Given the description of an element on the screen output the (x, y) to click on. 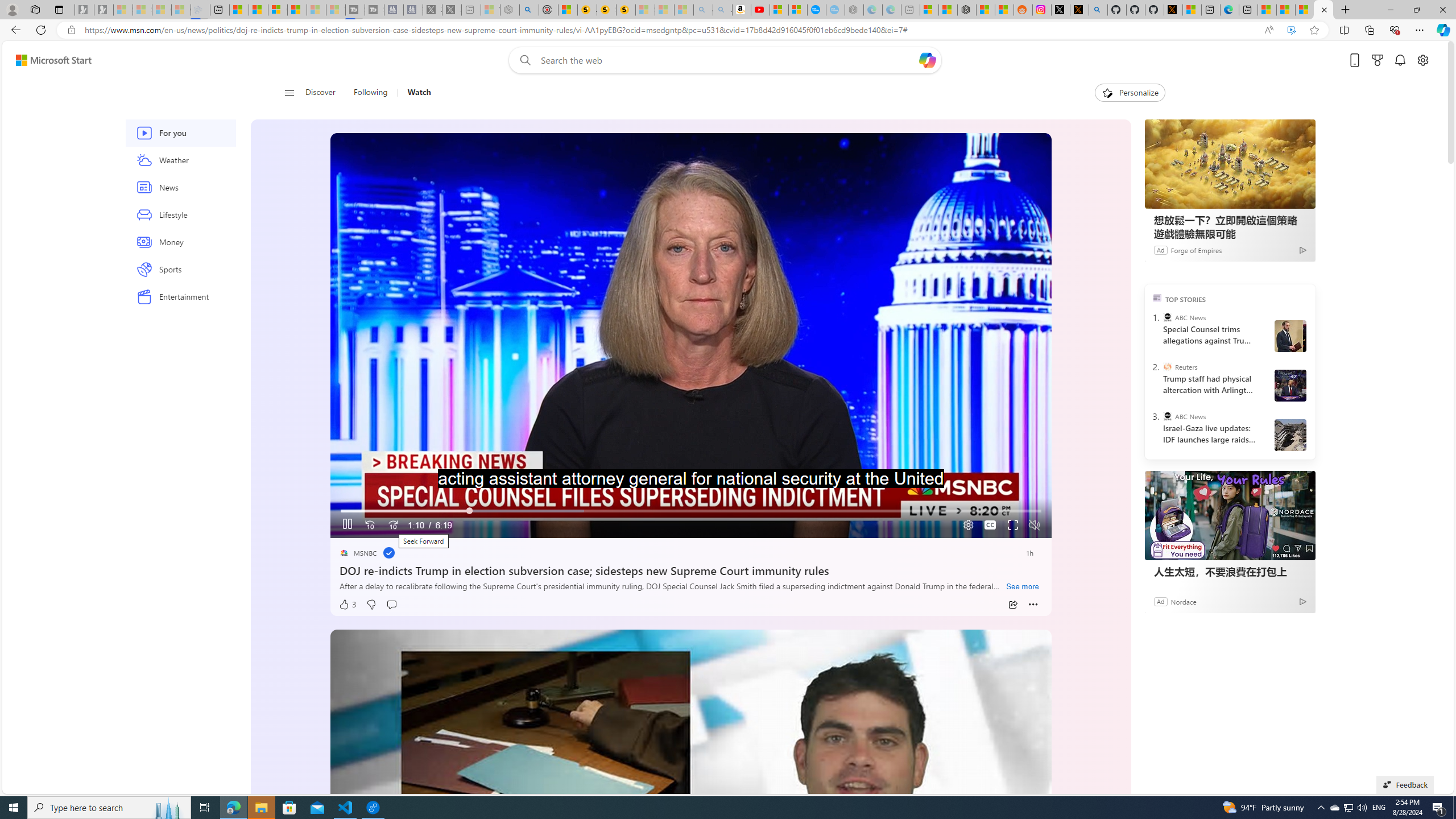
New tab - Sleeping (910, 9)
Unmute (1034, 524)
More (1033, 604)
Reuters (1167, 366)
Microsoft Start - Sleeping (315, 9)
Enter your search term (727, 59)
